Given the description of an element on the screen output the (x, y) to click on. 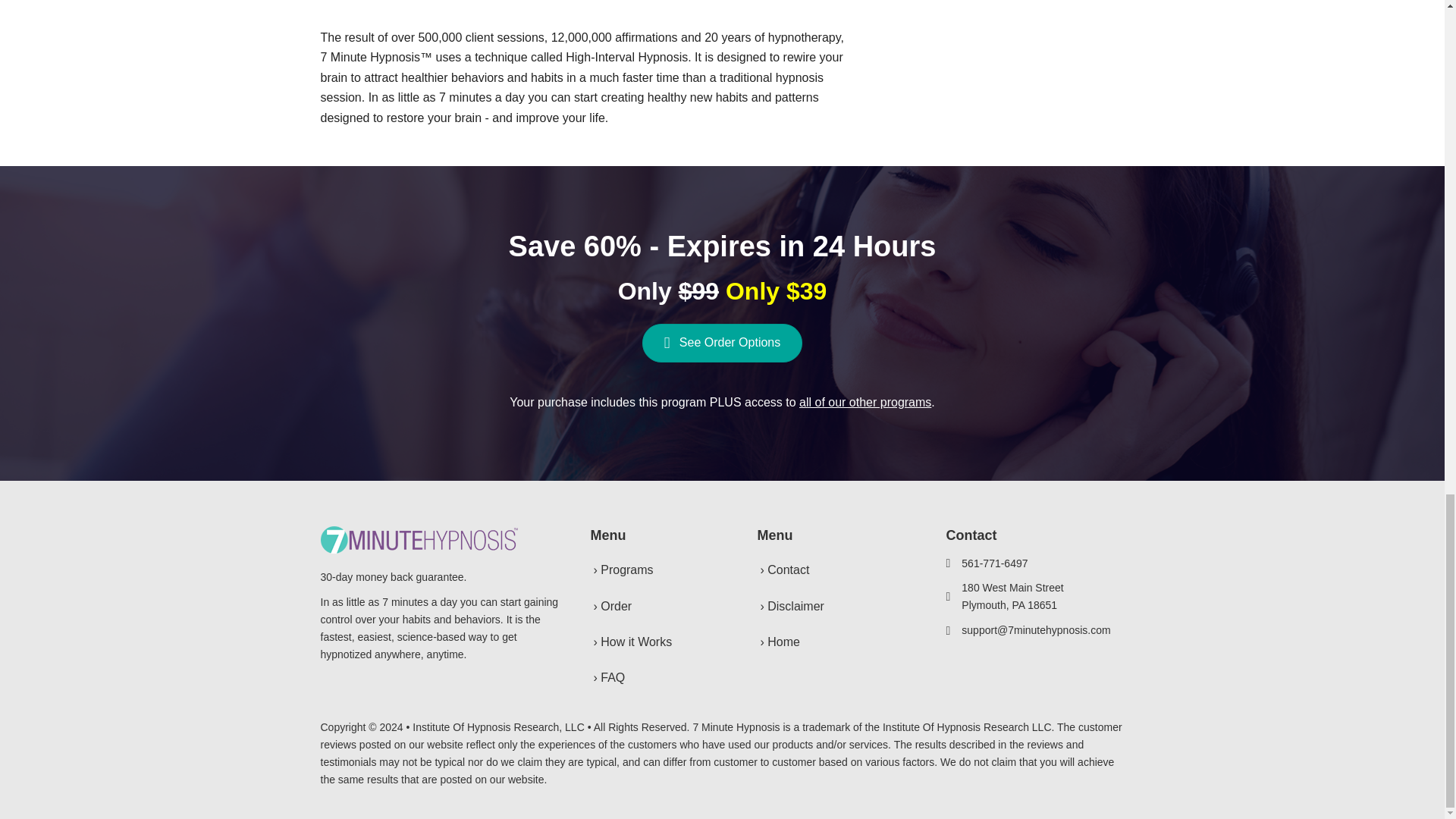
How it Works (654, 642)
all of our other programs (865, 401)
Logo-Small-260x36 (418, 539)
See Order Options (722, 342)
Contact (832, 570)
Disclaimer (832, 606)
FAQ (654, 677)
Programs (654, 570)
Order (654, 606)
Home (832, 642)
